Given the description of an element on the screen output the (x, y) to click on. 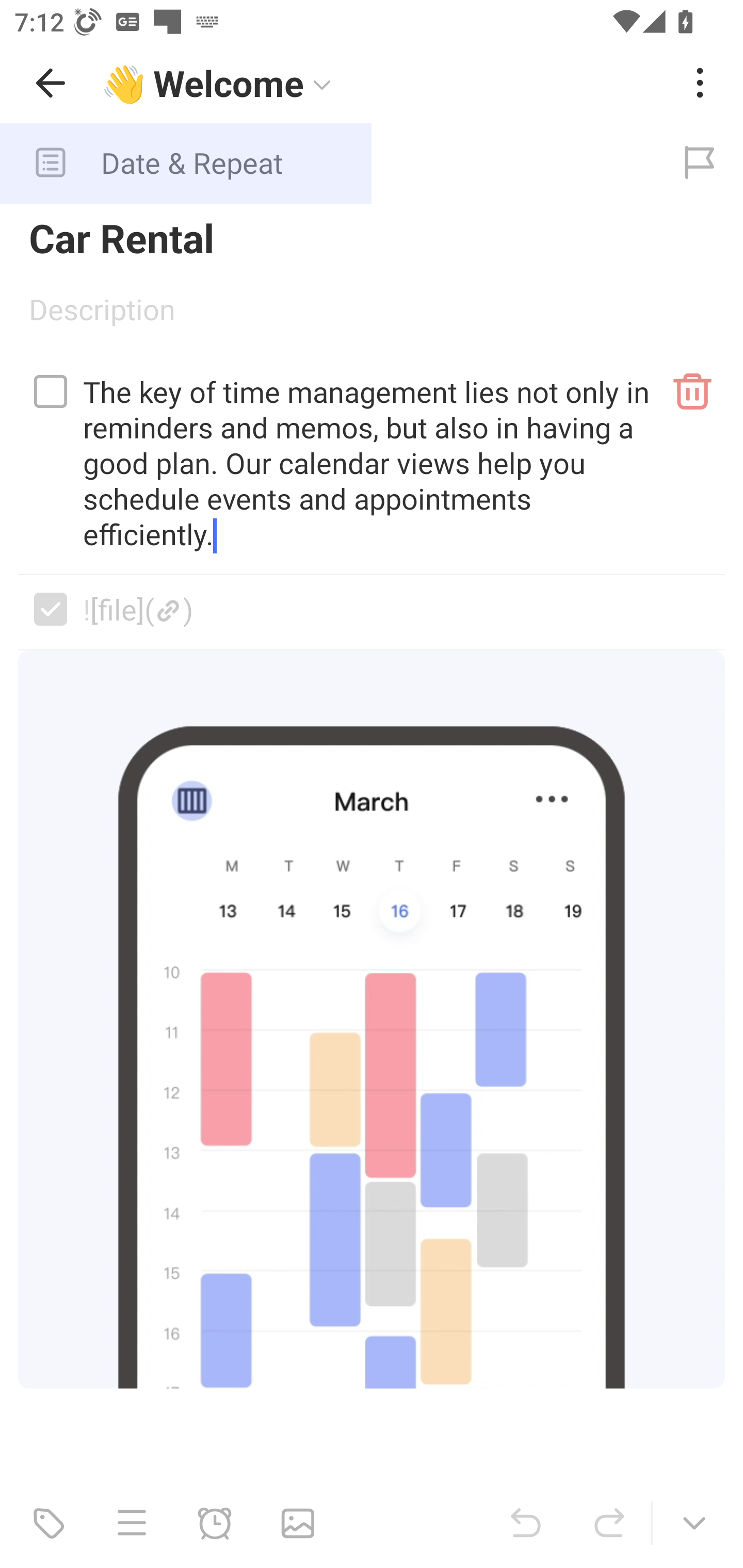
👋 Welcome (384, 82)
Date & Repeat (328, 163)
Car Rental (371, 237)
Description (371, 315)
  (50, 390)
  (50, 608)
